Given the description of an element on the screen output the (x, y) to click on. 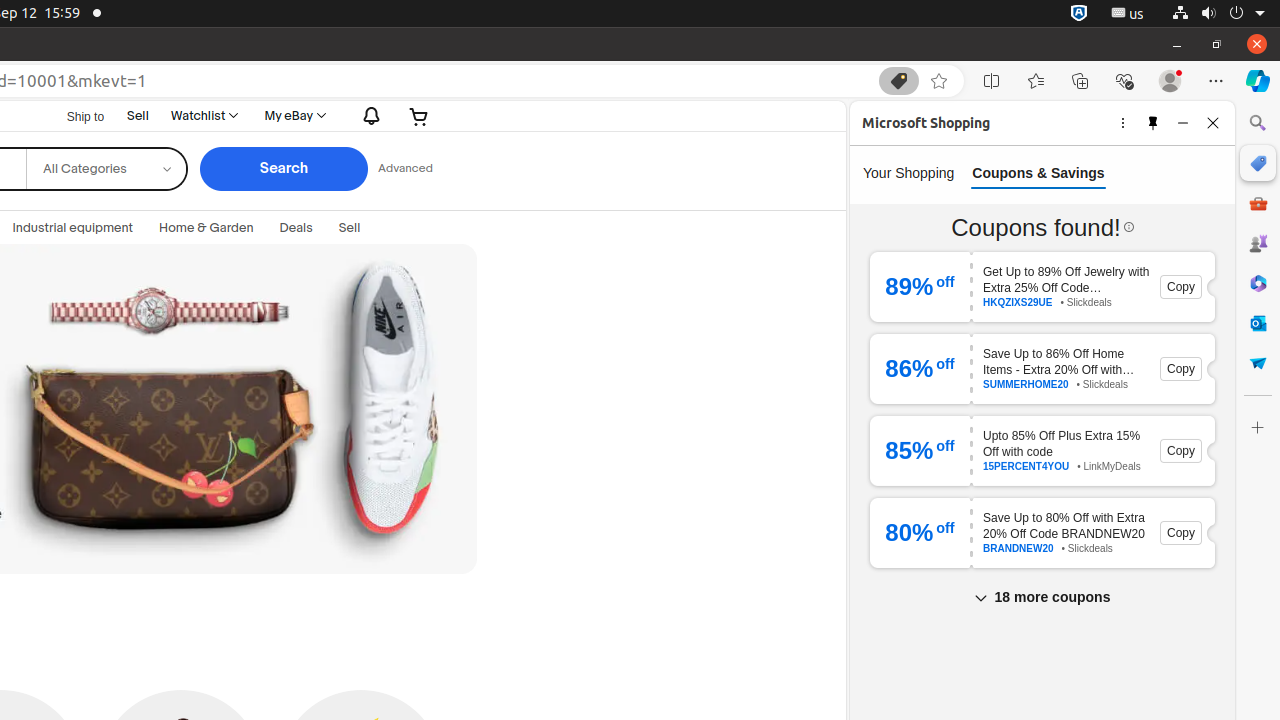
Advanced Search Element type: link (405, 169)
Games Element type: push-button (1258, 243)
Coupons & Savings Element type: page-tab (1038, 173)
Drop Element type: push-button (1258, 363)
Copy Element type: push-button (1180, 287)
